Given the description of an element on the screen output the (x, y) to click on. 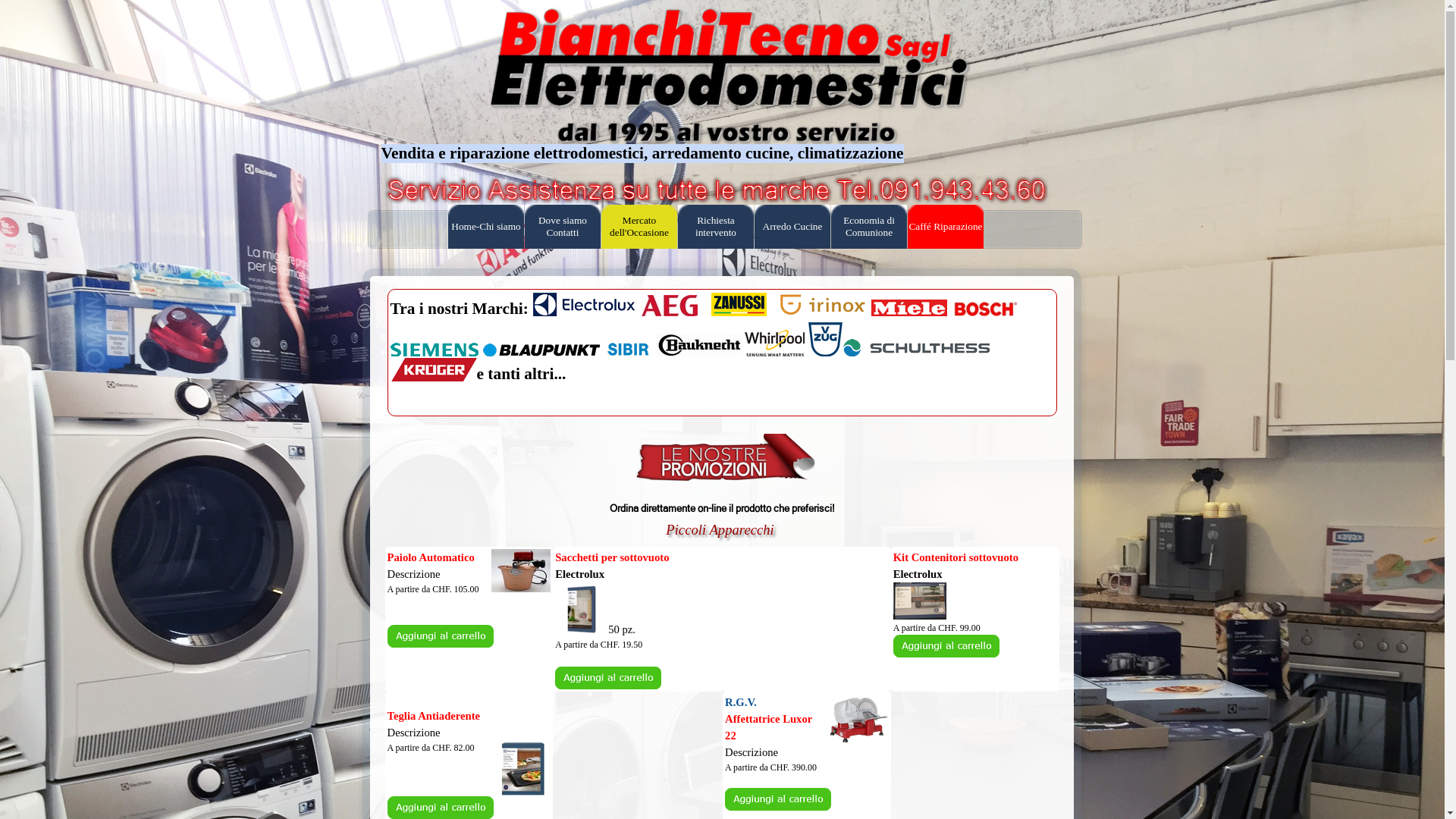
Titolo Element type: hover (724, 98)
Mercato dell'Occasione Element type: text (639, 226)
Economia di Comunione Element type: text (868, 226)
Servizio assistenza Element type: hover (714, 188)
Home-Chi siamo Element type: text (486, 226)
Richiesta intervento Element type: text (715, 226)
Dove siamo Contatti Element type: text (562, 226)
Arredo Cucine Element type: text (792, 226)
Paiolo Element type: hover (520, 570)
Descrizione Element type: text (413, 732)
Descrizione Element type: text (751, 752)
Descrizione Element type: text (413, 573)
